Given the description of an element on the screen output the (x, y) to click on. 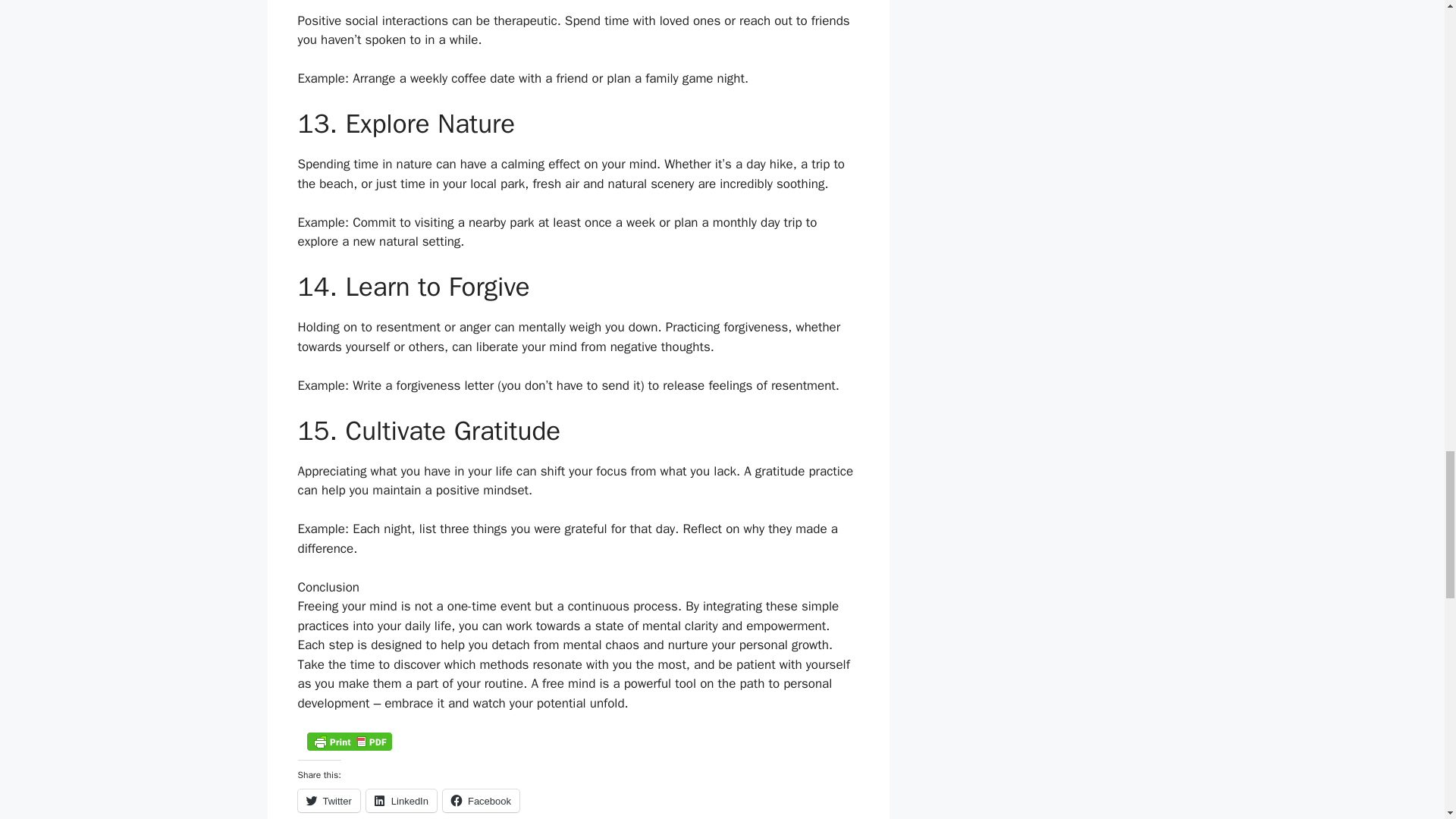
Click to share on Facebook (480, 800)
Twitter (328, 800)
Click to share on Twitter (328, 800)
Facebook (480, 800)
LinkedIn (401, 800)
Click to share on LinkedIn (401, 800)
